Given the description of an element on the screen output the (x, y) to click on. 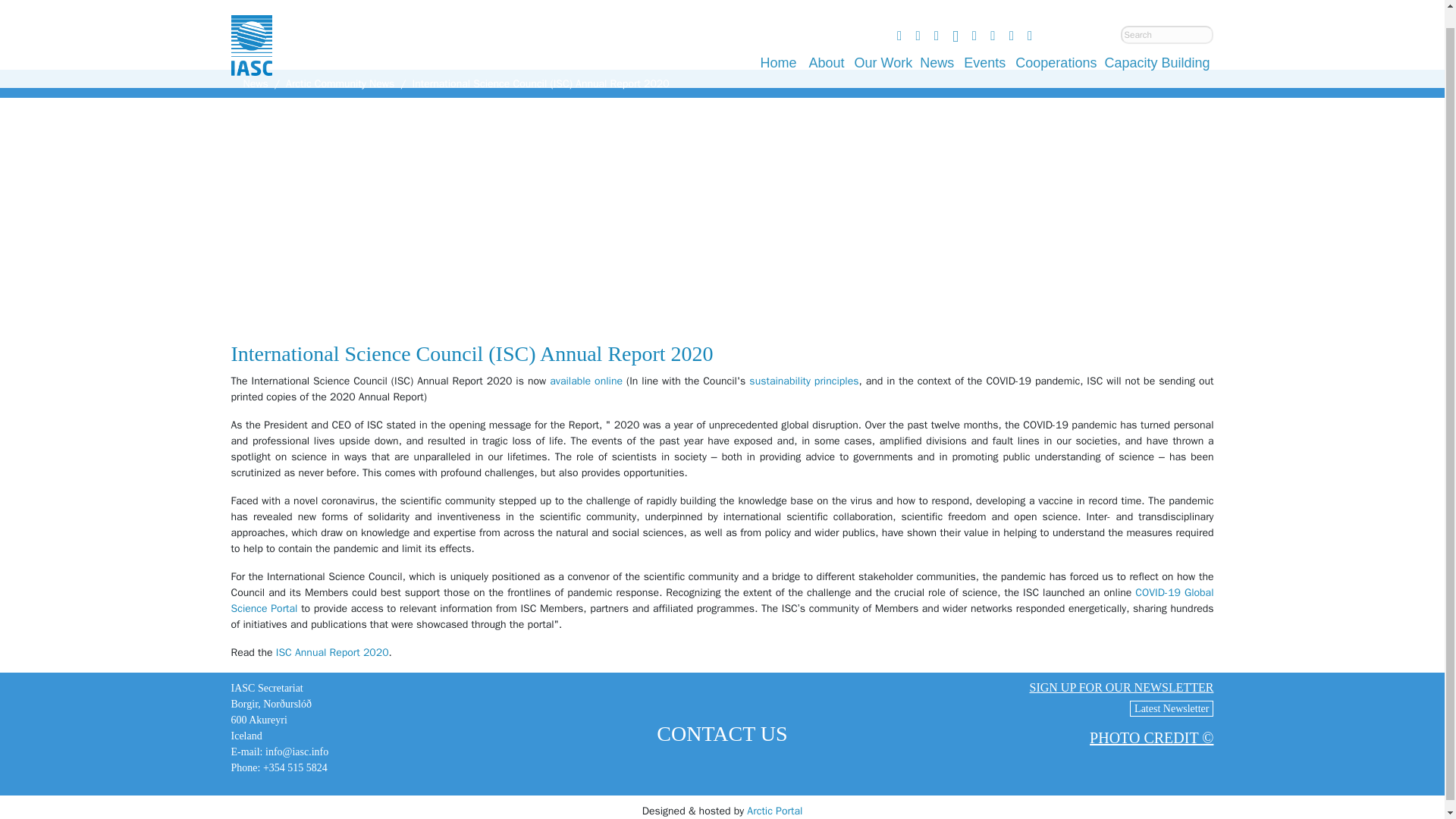
Photo Credit (1150, 737)
Home (778, 44)
About (826, 44)
Arctic Portal (774, 810)
X - Twitter (936, 17)
Newsletter sign up (1120, 686)
Intranet (992, 17)
Forms (1029, 17)
Linked In (955, 17)
Signup for Newsletter (974, 17)
Contact us! (1011, 17)
Facebook (917, 17)
Youtube (898, 17)
IASC Newsletter (1170, 708)
International Arctic Science Committee (250, 42)
